Given the description of an element on the screen output the (x, y) to click on. 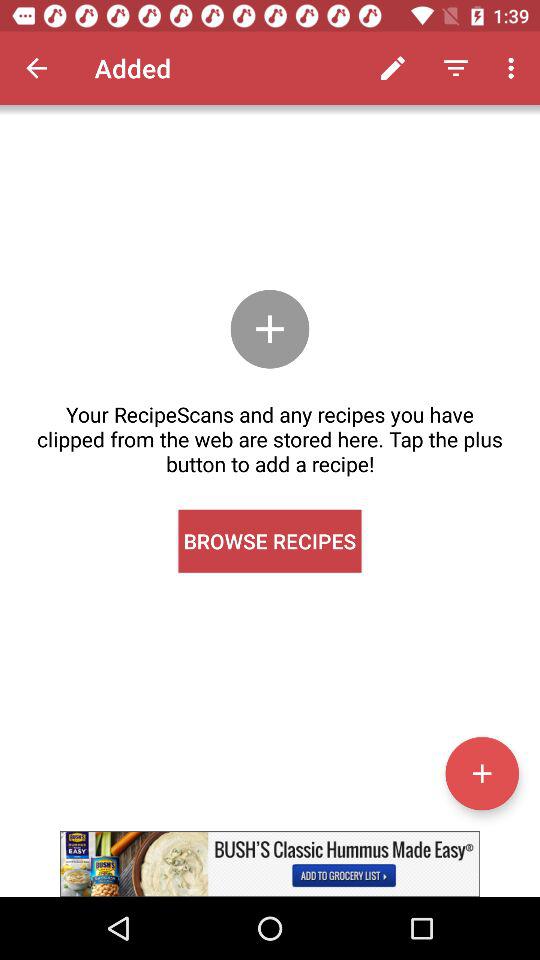
find recipe inspiration (270, 864)
